Given the description of an element on the screen output the (x, y) to click on. 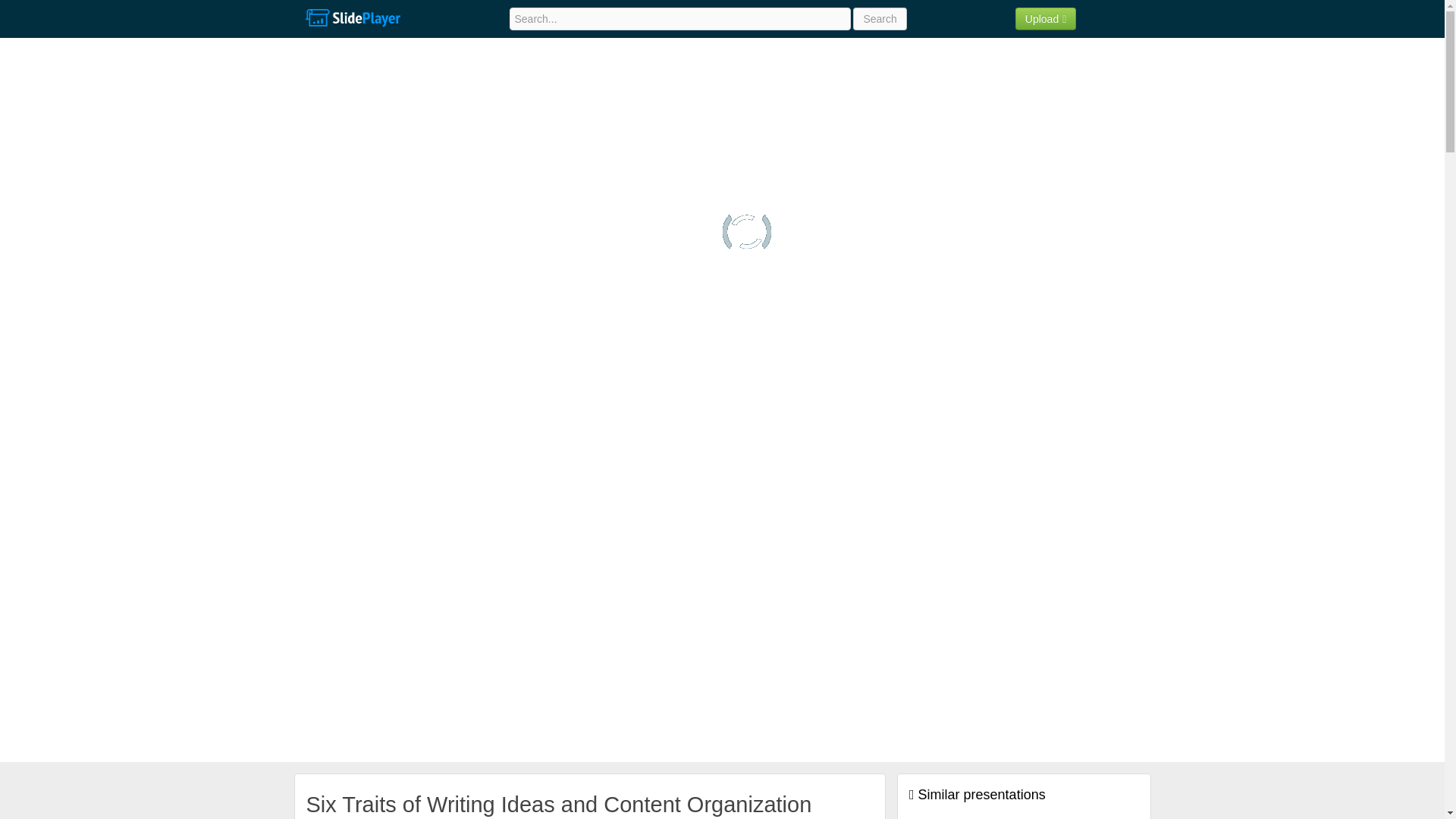
SlidePlayer (352, 18)
Upload (1045, 18)
Presentation is loading. Please wait. (746, 232)
Search (879, 18)
